Given the description of an element on the screen output the (x, y) to click on. 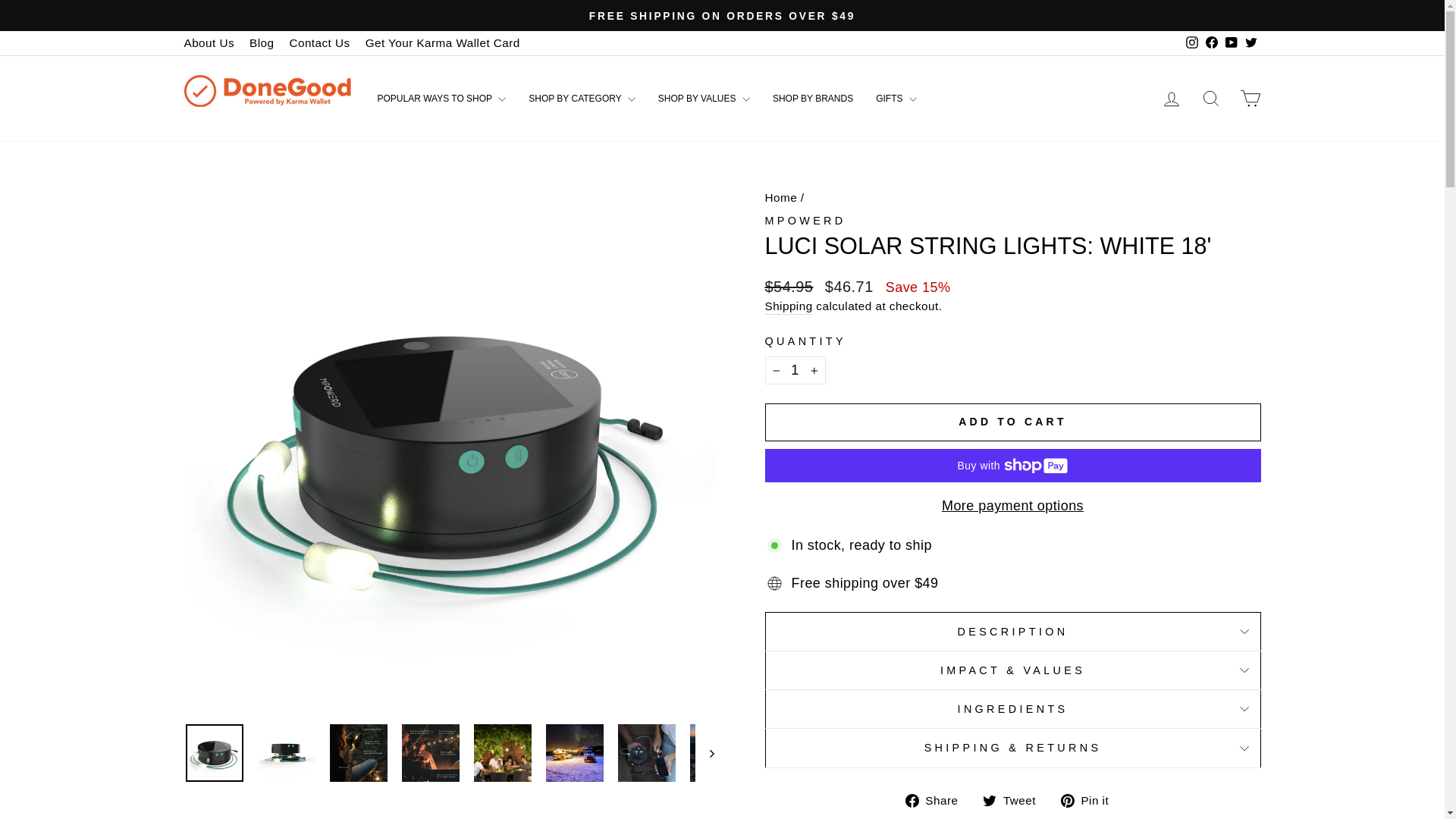
ACCOUNT (1170, 98)
instagram (1192, 42)
1 (794, 370)
Tweet on Twitter (1014, 800)
ICON-SEARCH (1210, 97)
Back to the frontpage (780, 196)
Share on Facebook (937, 800)
Pin on Pinterest (1090, 800)
twitter (1250, 42)
